Given the description of an element on the screen output the (x, y) to click on. 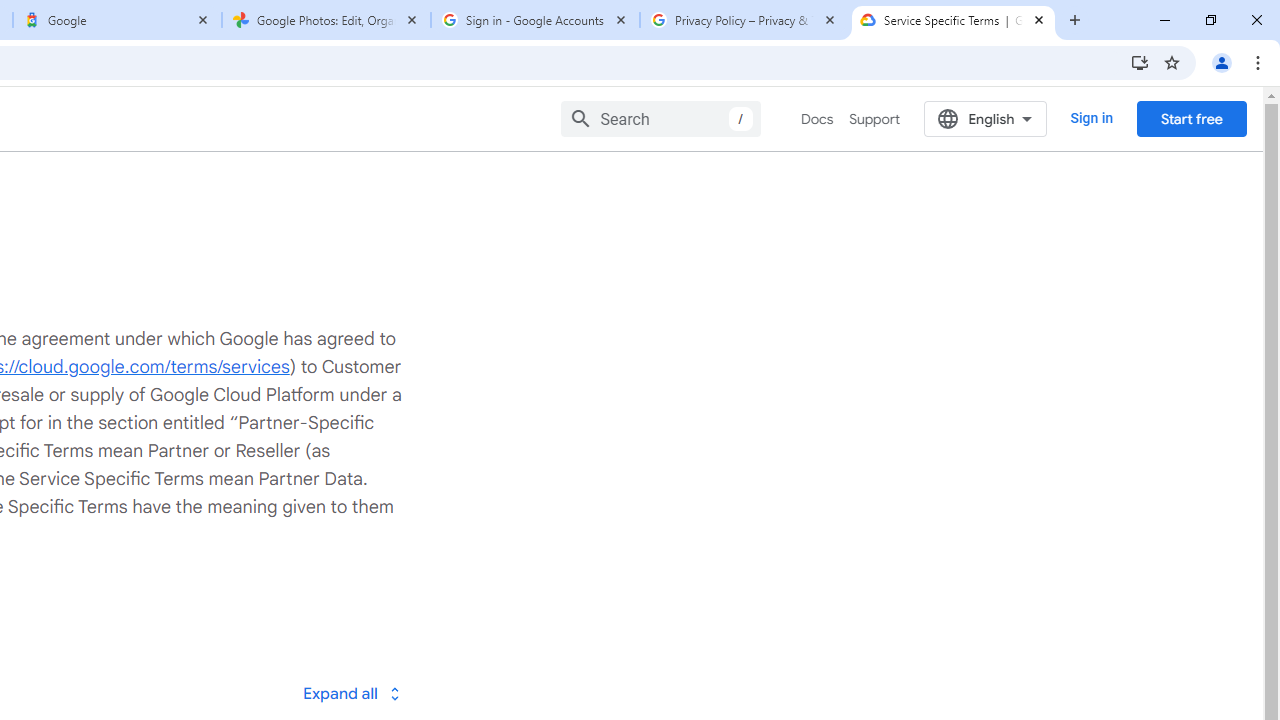
Support (874, 119)
Google (116, 20)
Minimize (1165, 20)
Search (660, 118)
Start free (1191, 118)
